Given the description of an element on the screen output the (x, y) to click on. 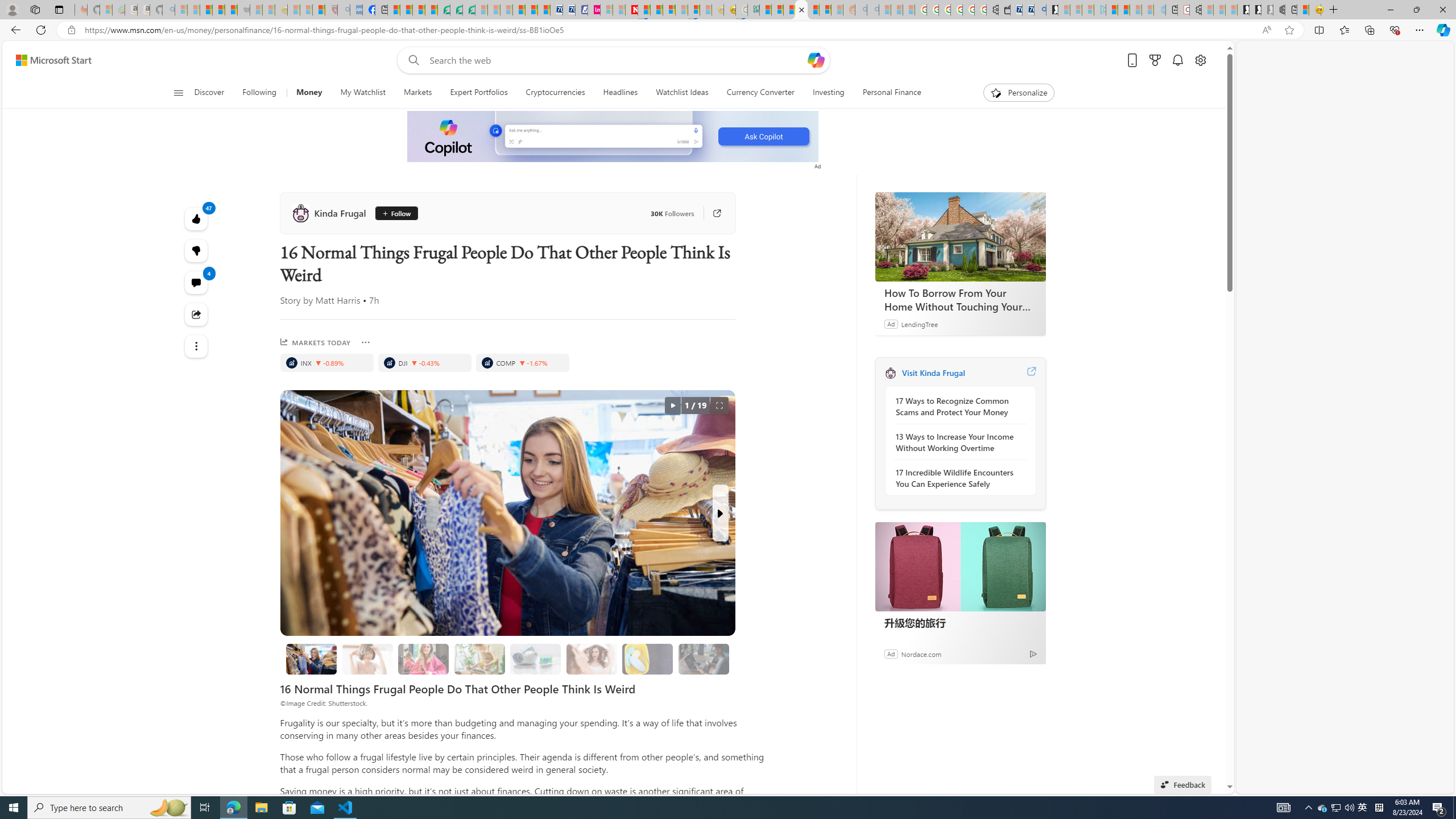
Cryptocurrencies (555, 92)
Aberdeen, Hong Kong SAR hourly forecast | Microsoft Weather (1302, 9)
4. Cutting the Bottom off the Toothpaste Tube (534, 659)
Cryptocurrencies (555, 92)
Share this story (196, 314)
